Given the description of an element on the screen output the (x, y) to click on. 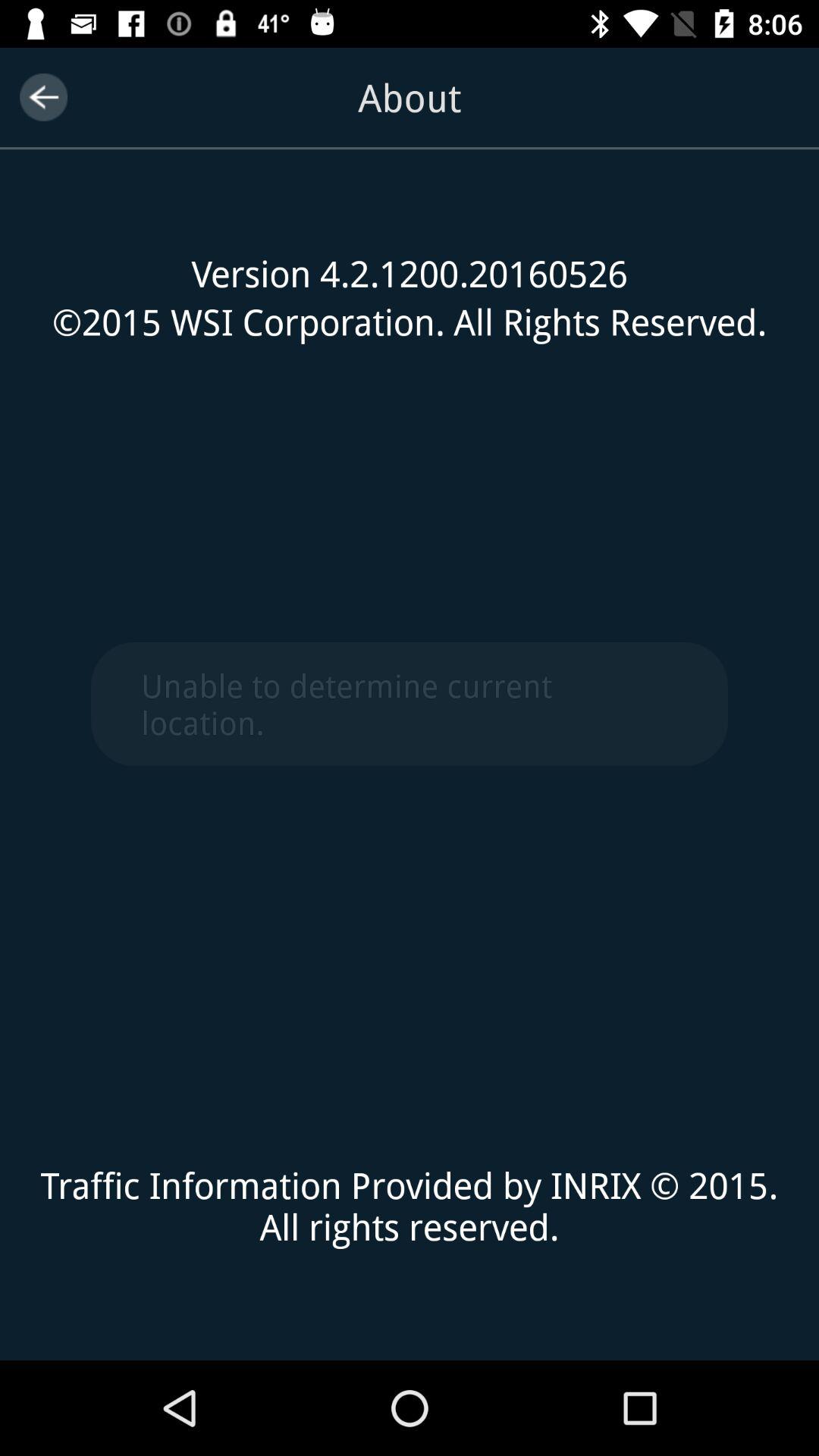
click on the symbol which is at the immediate left of the about (43, 97)
